Given the description of an element on the screen output the (x, y) to click on. 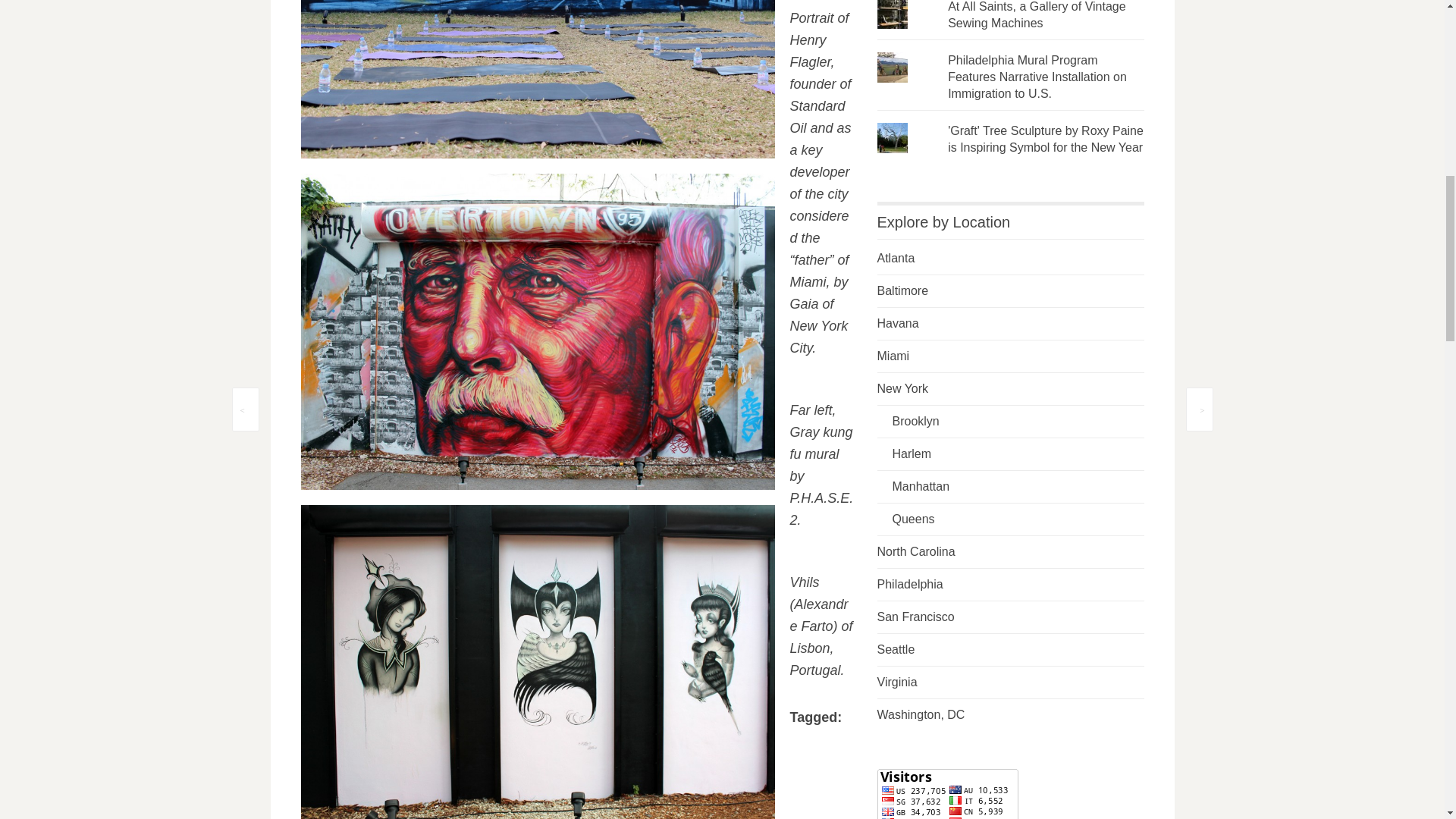
At All Saints, a Gallery of Vintage Sewing Machines (1036, 14)
